Given the description of an element on the screen output the (x, y) to click on. 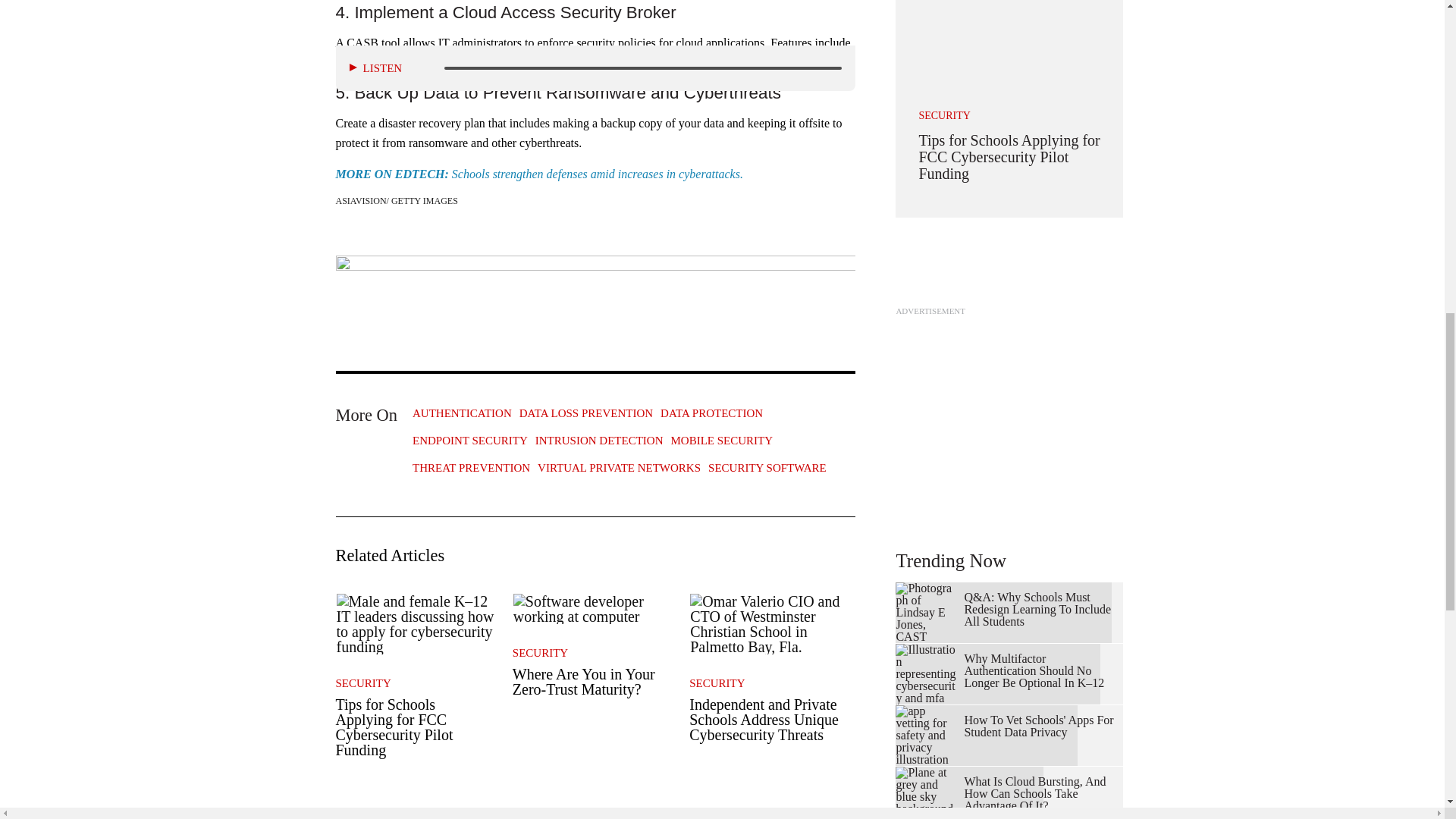
advertisement (1008, 416)
